Given the description of an element on the screen output the (x, y) to click on. 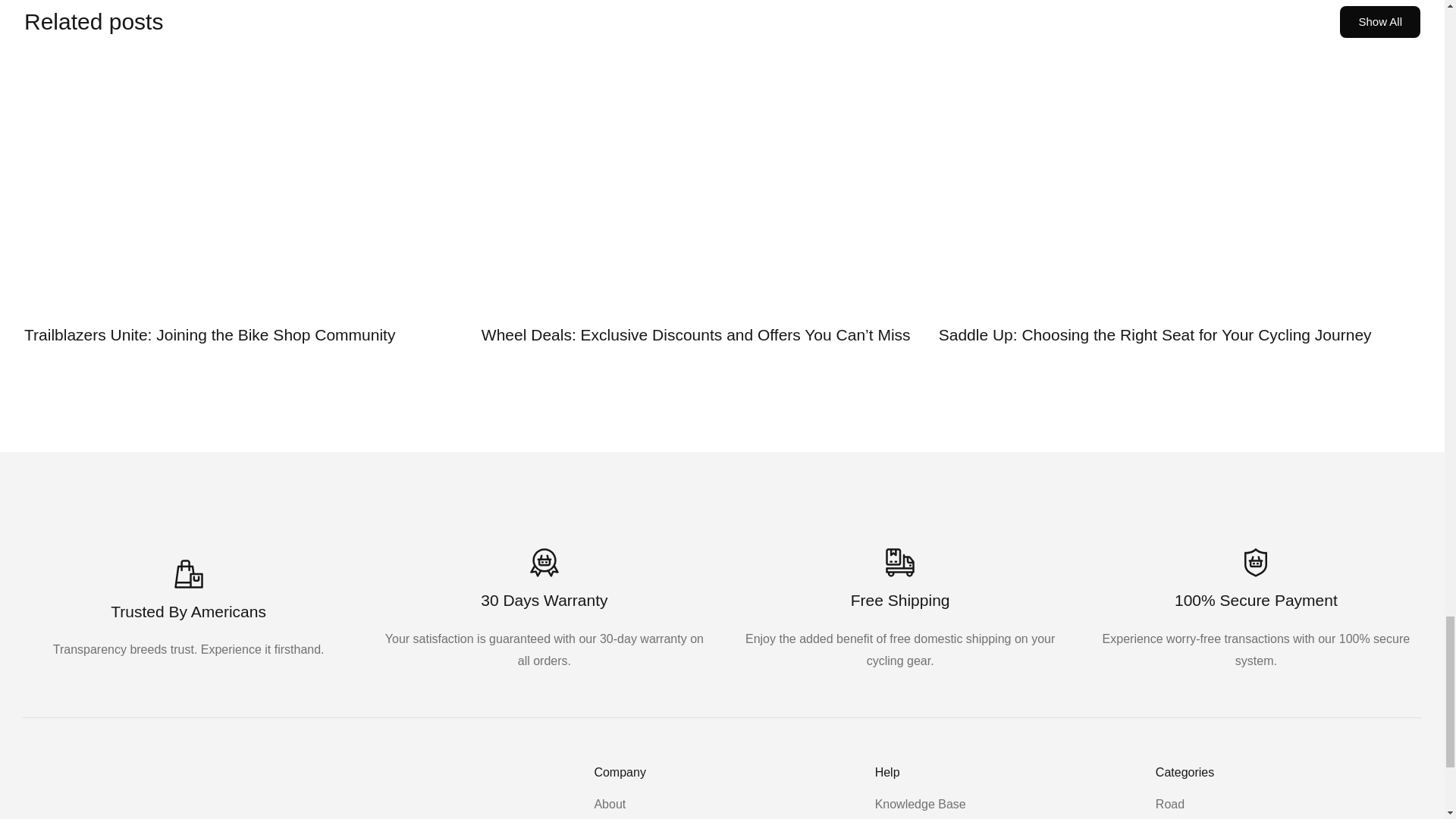
Trailblazers Unite: Joining the Bike Shop Community (209, 334)
Show All (1380, 21)
